Given the description of an element on the screen output the (x, y) to click on. 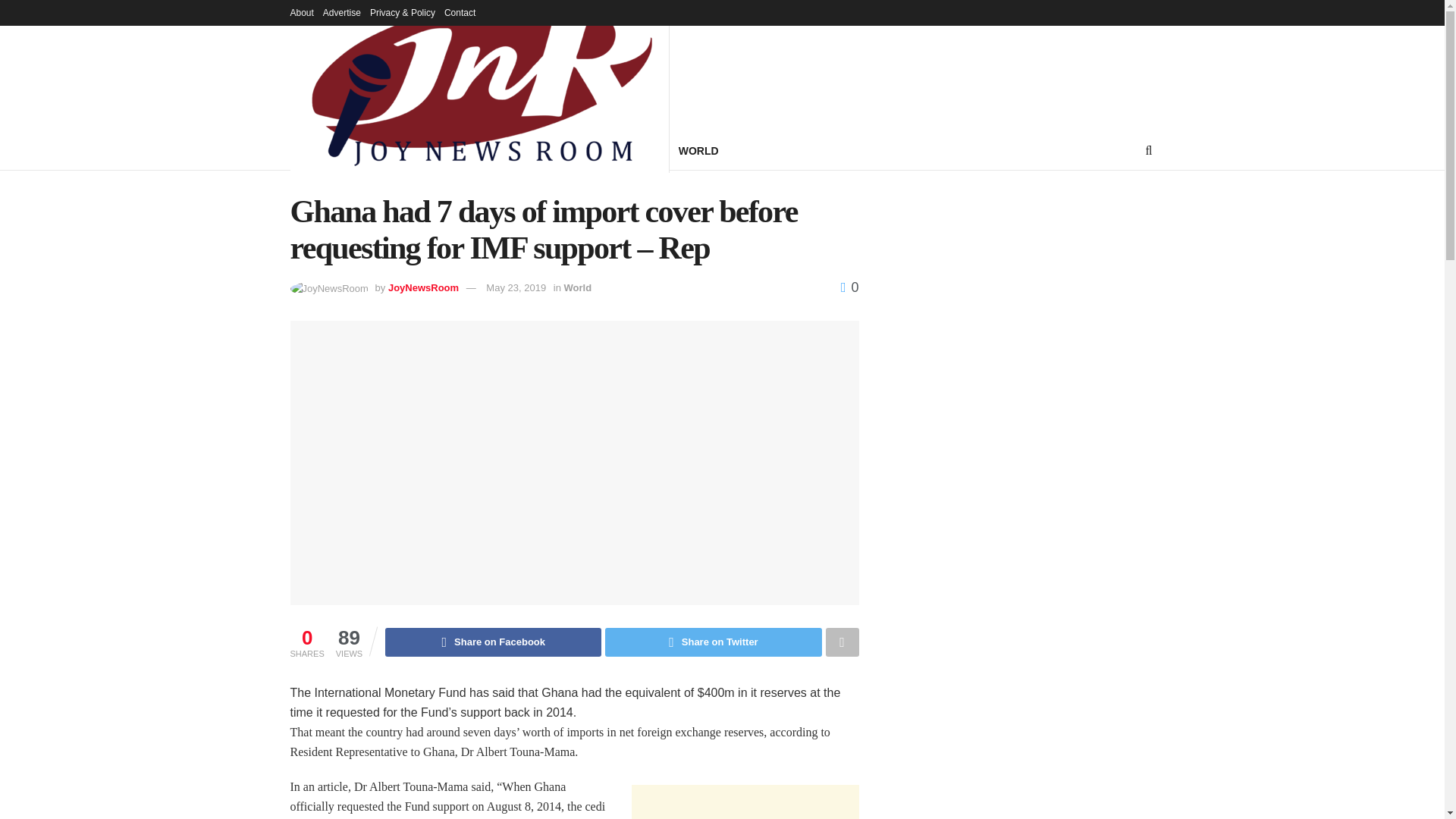
HOME (305, 150)
POLITICS (523, 150)
NEWS (353, 150)
ENTERTAINMENT (434, 150)
About (301, 12)
Advertisement (744, 801)
SPORTS (639, 150)
WORLD (698, 150)
Advertisement (965, 76)
Contact (460, 12)
LOCAL (582, 150)
Advertise (342, 12)
